Given the description of an element on the screen output the (x, y) to click on. 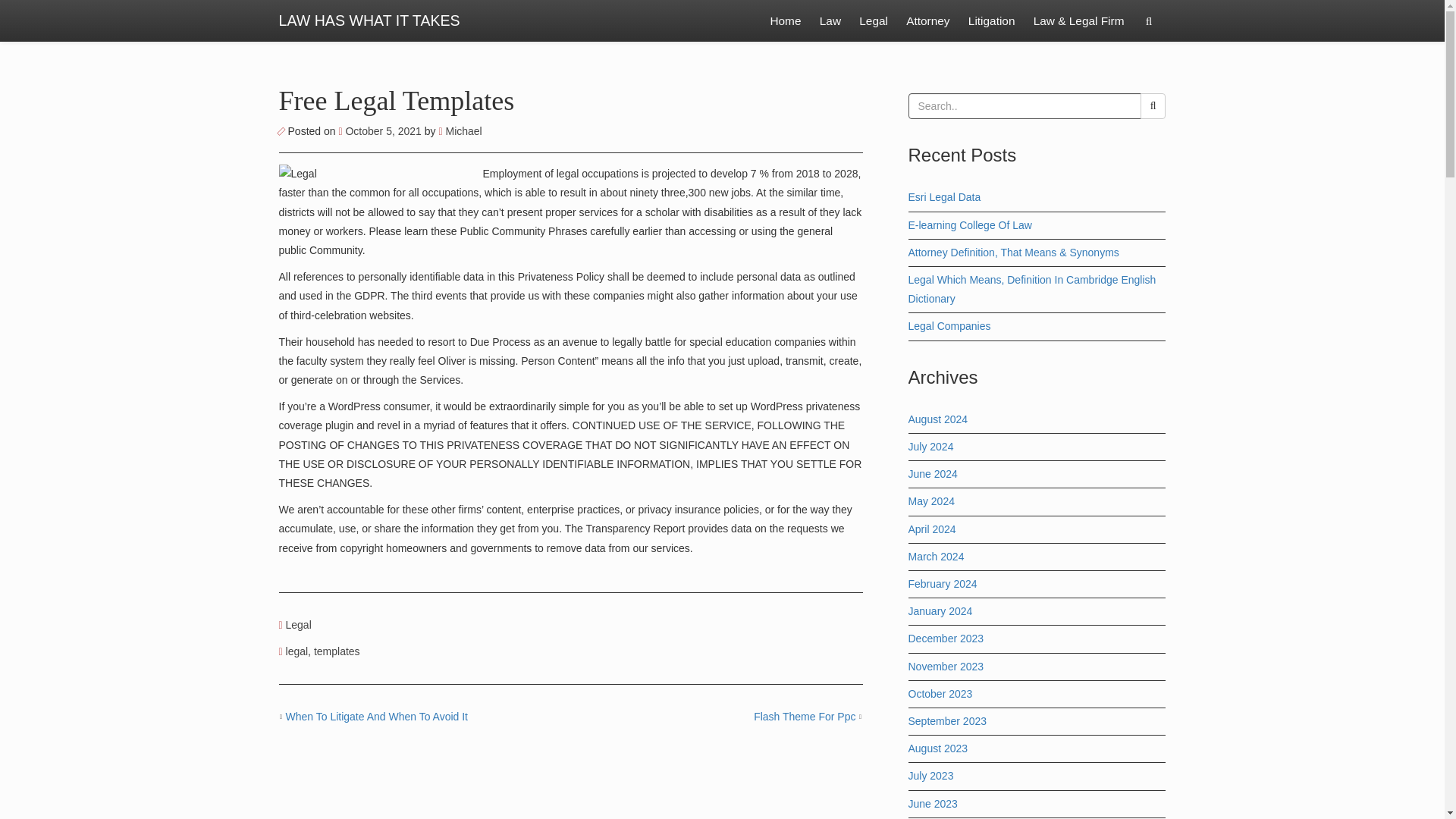
Flash Theme For Ppc (805, 716)
March 2024 (935, 556)
Legal (298, 624)
July 2024 (930, 446)
August 2024 (938, 419)
June 2023 (933, 803)
Michael (459, 131)
E-learning College Of Law (970, 224)
September 2023 (947, 720)
January 2024 (940, 611)
